Given the description of an element on the screen output the (x, y) to click on. 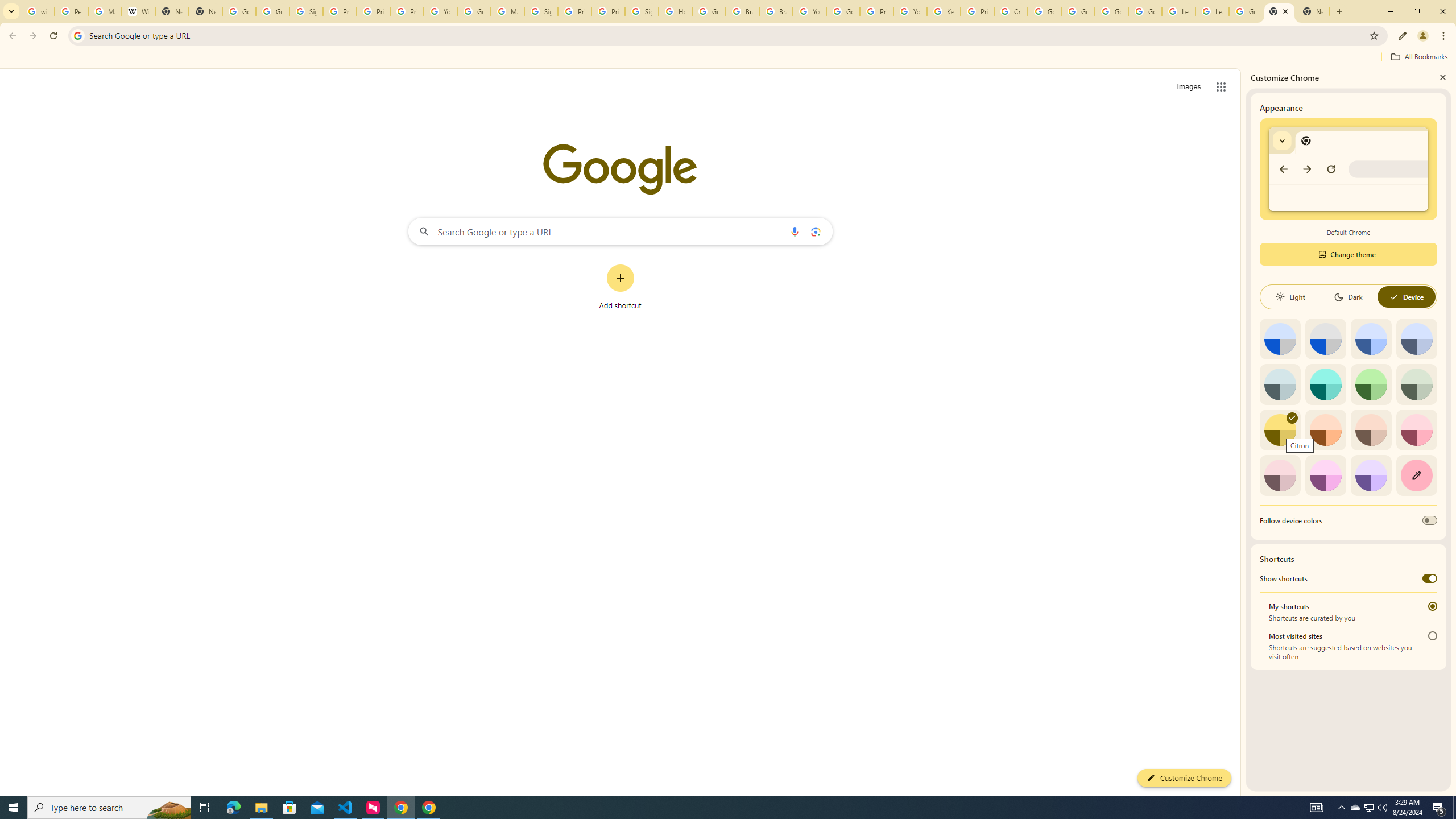
YouTube (909, 11)
New Tab (1313, 11)
Custom color (1416, 475)
Google Drive: Sign-in (272, 11)
Brand Resource Center (742, 11)
Create your Google Account (1010, 11)
Green (1371, 383)
Google Account Help (1043, 11)
Rose (1416, 429)
Apricot (1371, 429)
